Given the description of an element on the screen output the (x, y) to click on. 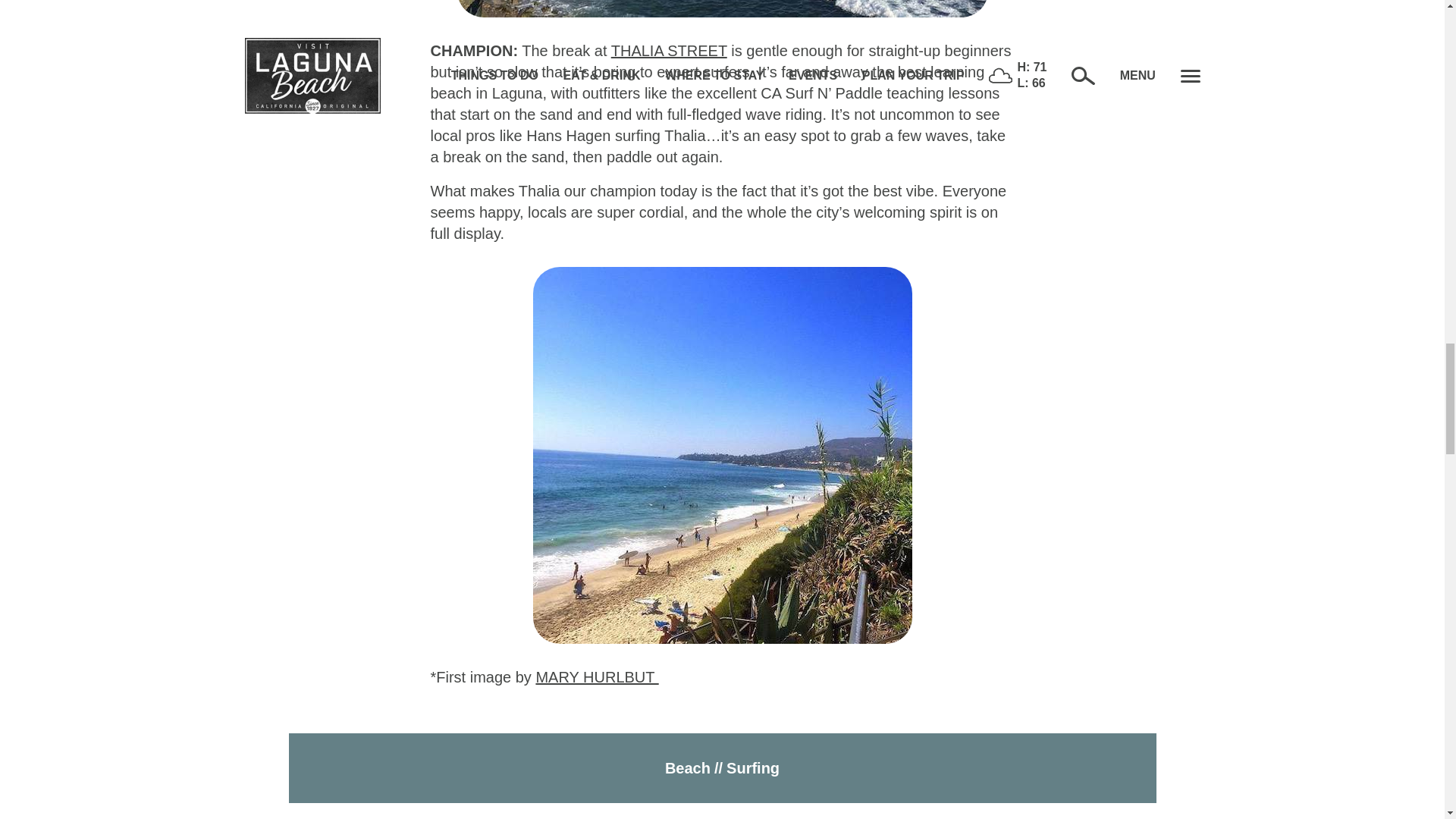
The Best Beach for Surfing (722, 8)
